Given the description of an element on the screen output the (x, y) to click on. 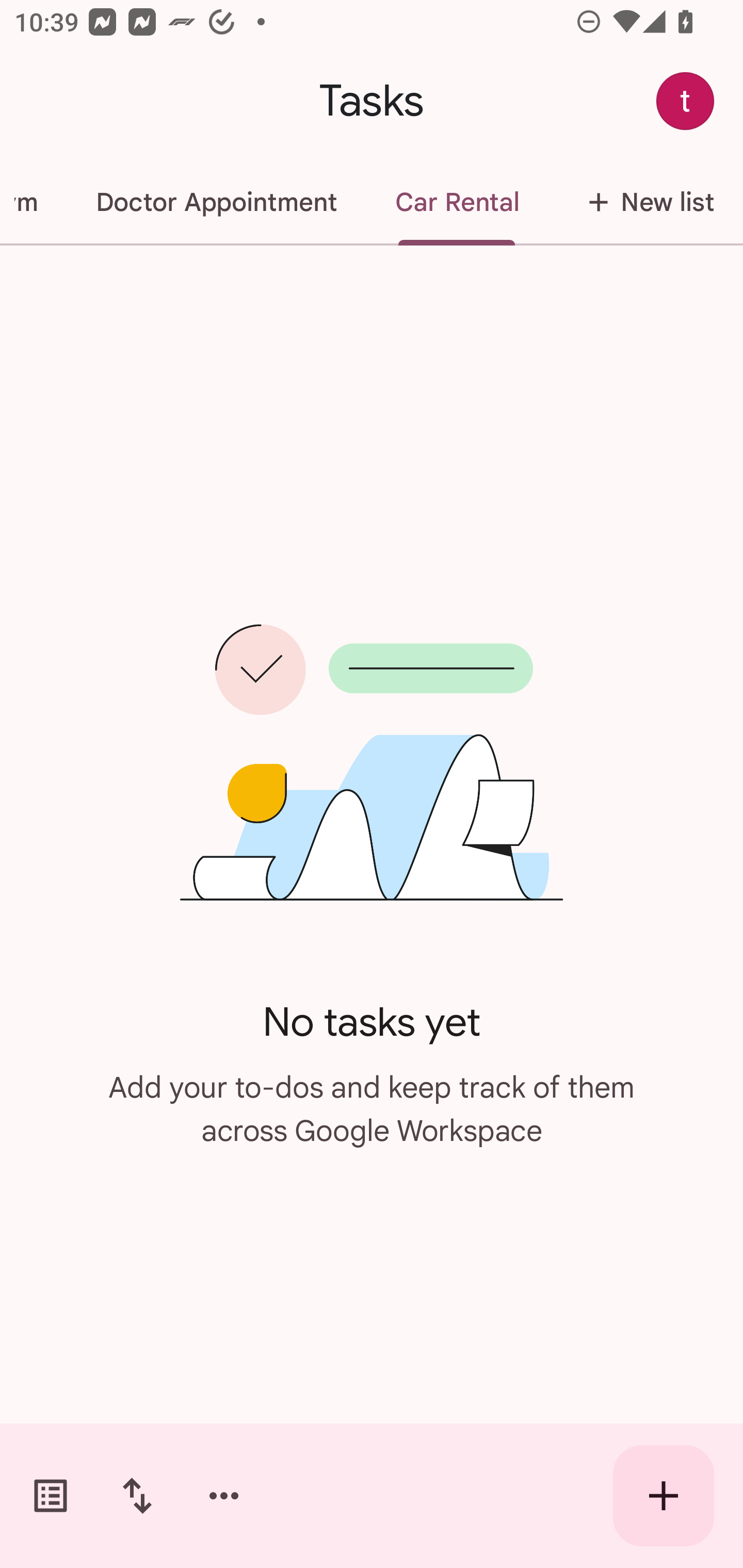
Doctor Appointment (215, 202)
New list (645, 202)
Switch task lists (50, 1495)
Create new task (663, 1495)
Change sort order (136, 1495)
More options (223, 1495)
